Given the description of an element on the screen output the (x, y) to click on. 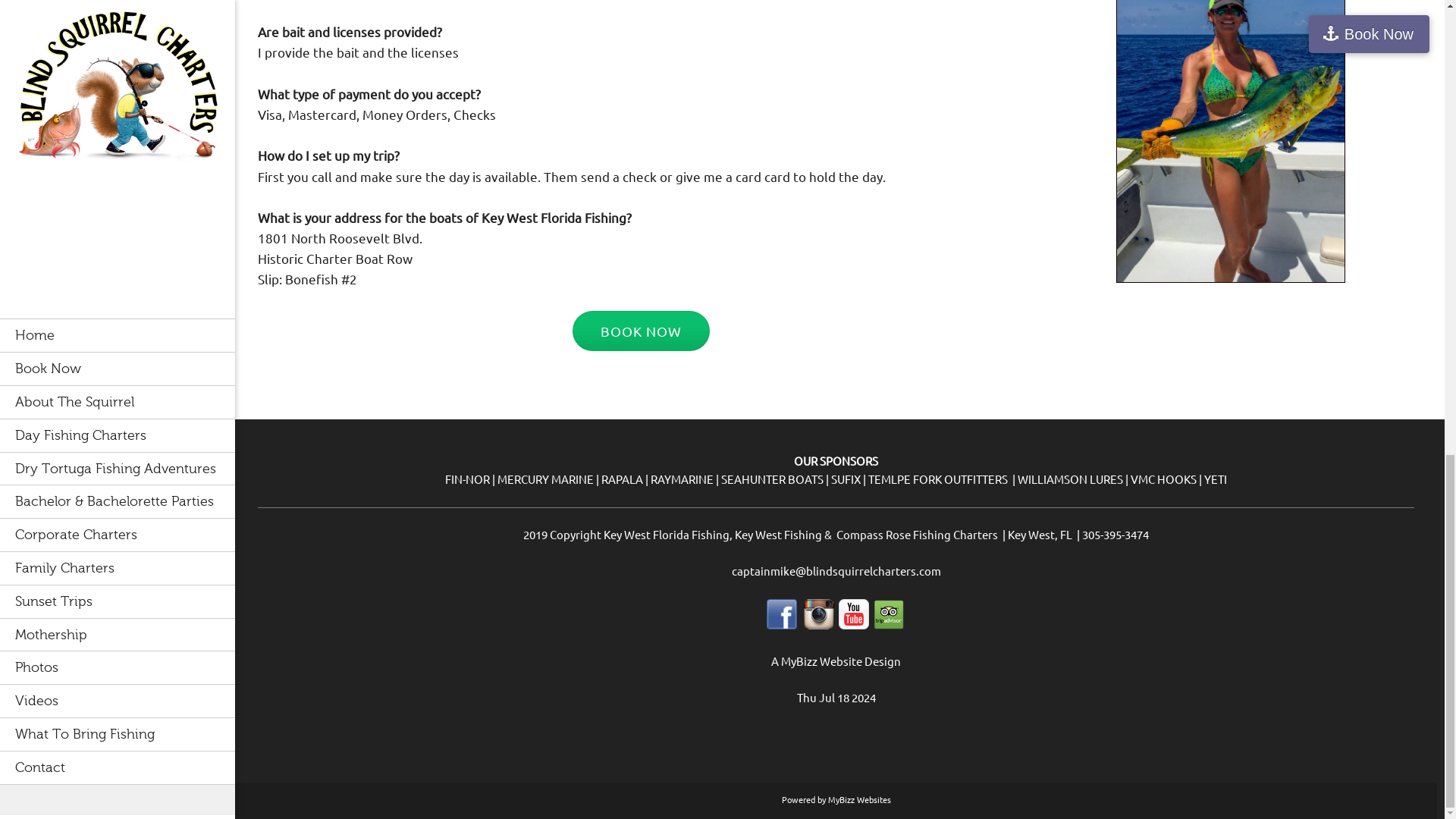
VMC HOOKS (1163, 479)
MyBizz Websites (859, 799)
Key West Fishing (778, 534)
WILLIAMSON LURES (1069, 479)
A MyBizz Website Design (836, 661)
MERCURY MARINE (545, 479)
TEMLPE FORK OUTFITTERS (937, 479)
FIN-NOR (467, 479)
RAYMARINE (681, 479)
RAPALA (622, 479)
SUFIX (845, 479)
Compass Rose Fishing Charters (916, 534)
YETI (1215, 479)
Key West Florida Fishing, (669, 534)
